Given the description of an element on the screen output the (x, y) to click on. 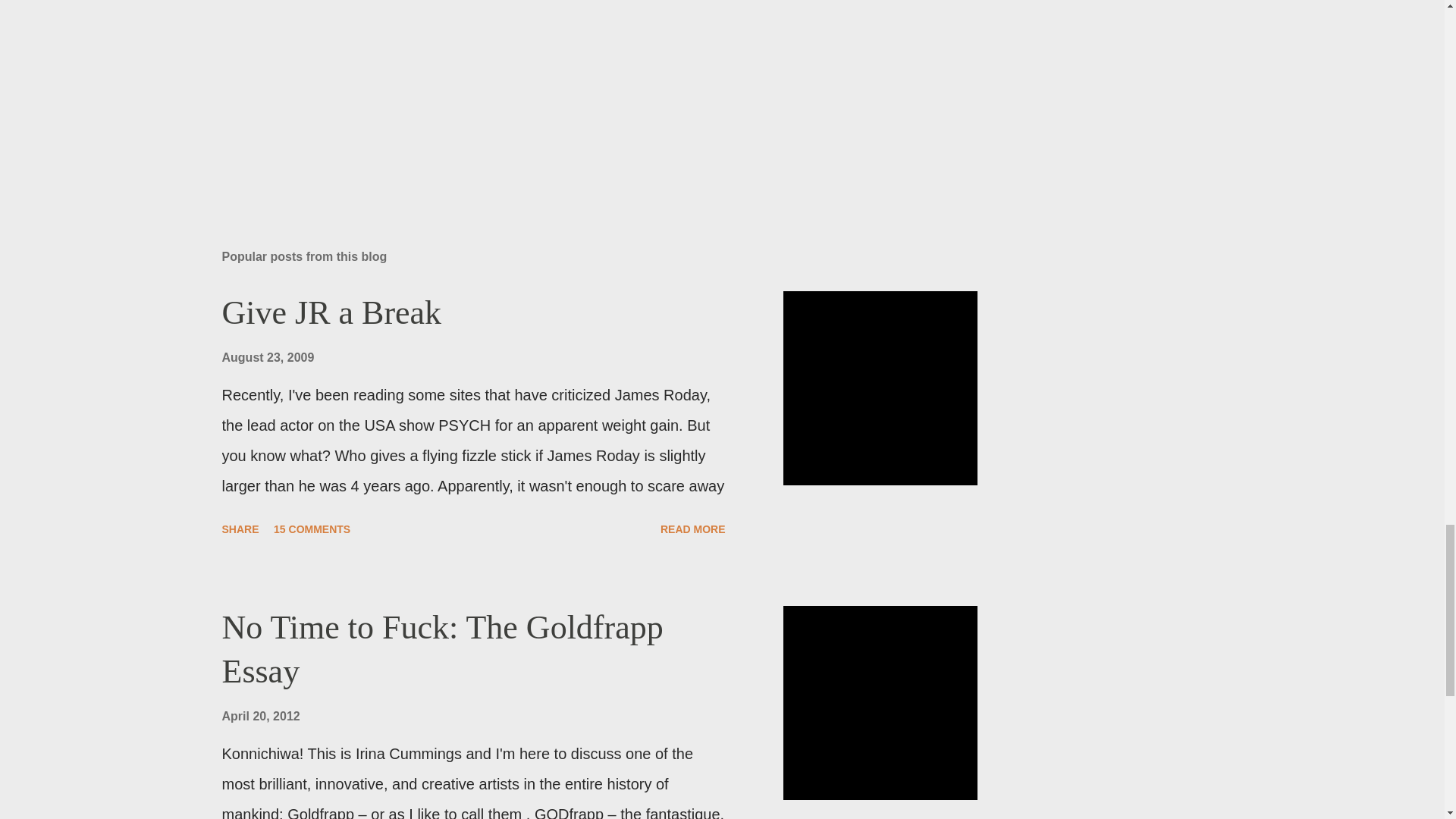
permanent link (267, 357)
